Given the description of an element on the screen output the (x, y) to click on. 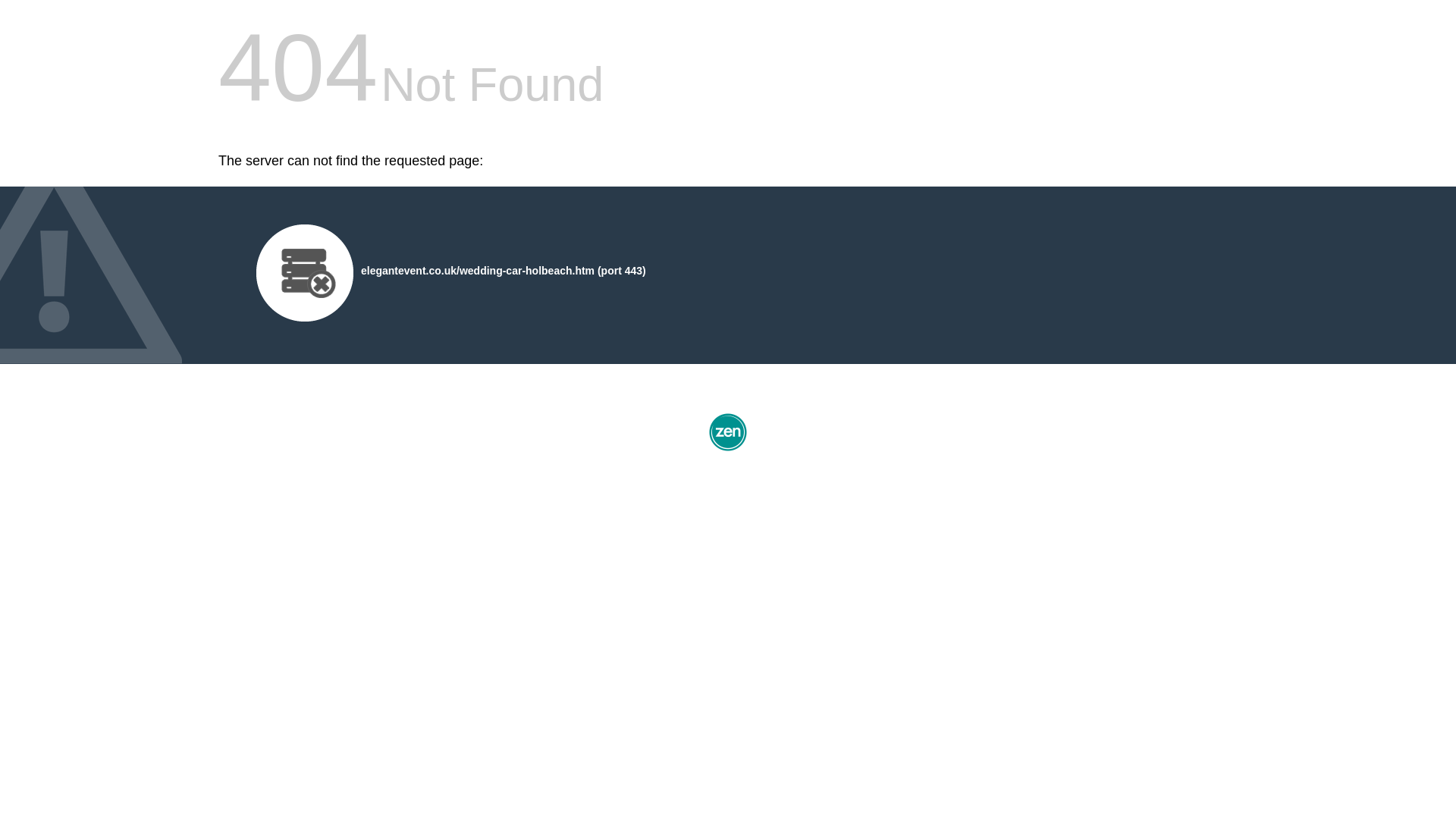
zen.co.uk (727, 451)
